Given the description of an element on the screen output the (x, y) to click on. 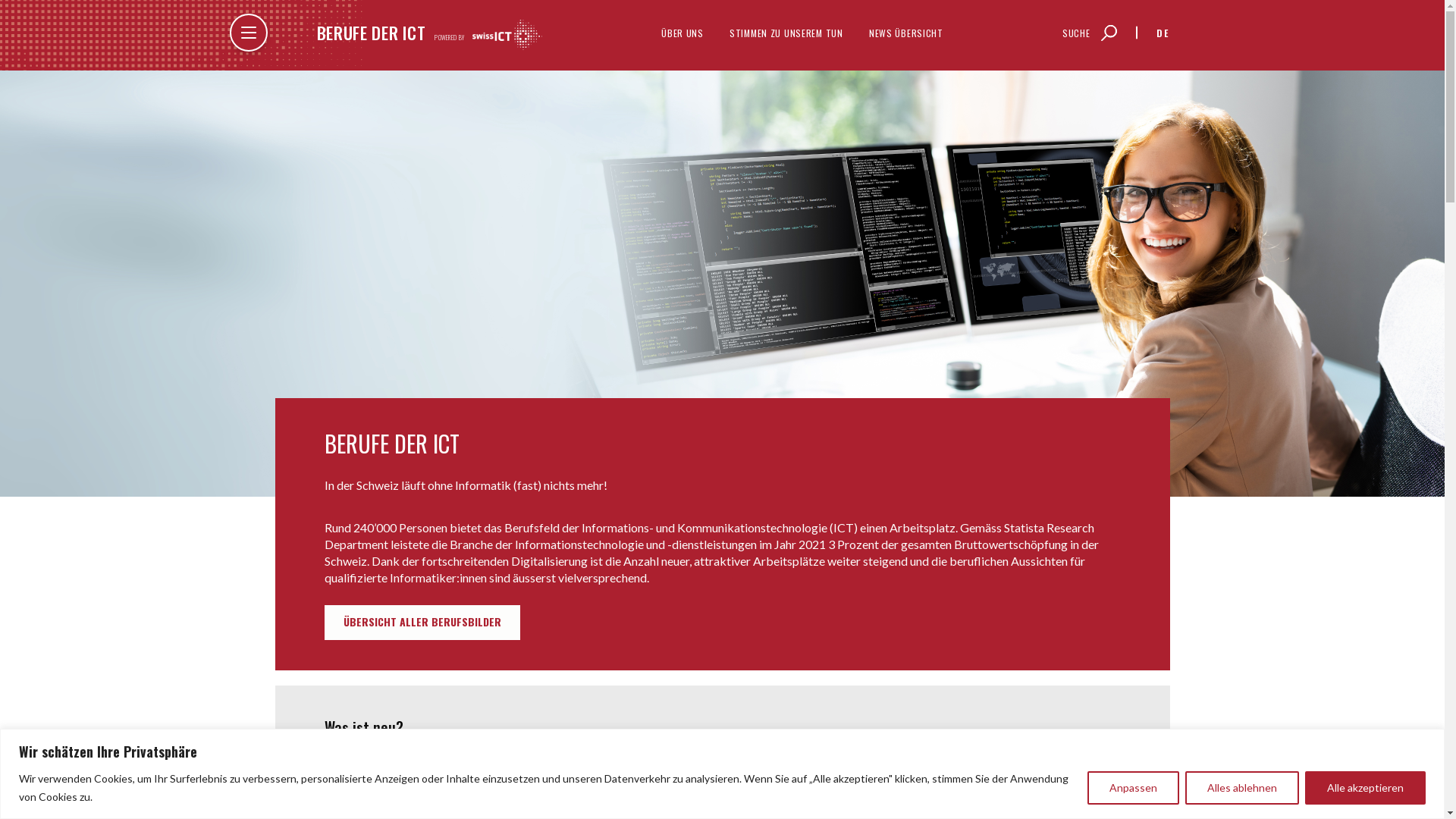
SUCHE Element type: text (1089, 31)
BERUFE DER ICT Element type: text (371, 32)
STIMMEN ZU UNSEREM TUN Element type: text (786, 31)
